Given the description of an element on the screen output the (x, y) to click on. 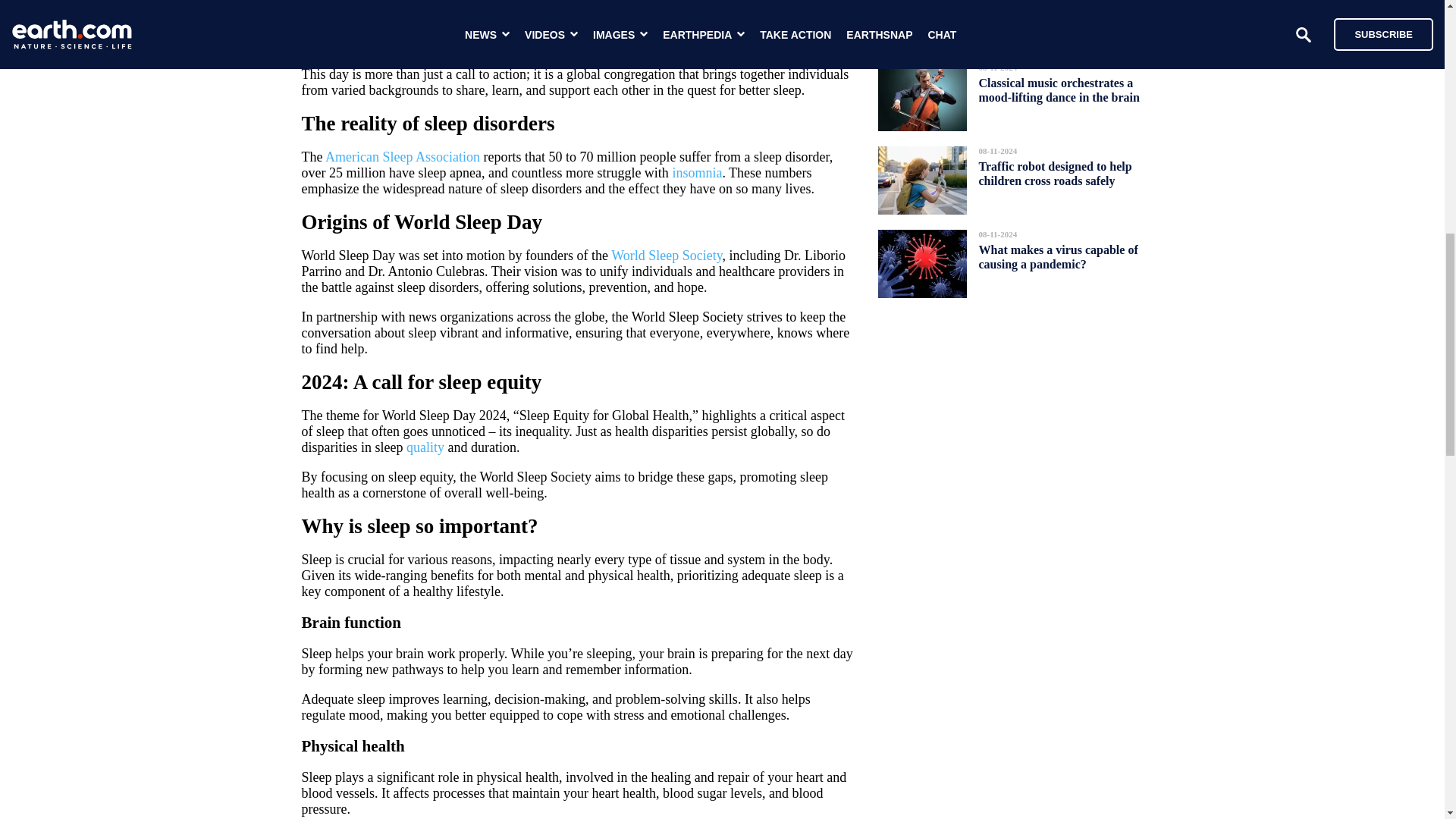
disorders (519, 3)
World Sleep Society (666, 255)
American Sleep Association (402, 156)
insomnia (696, 172)
quality (425, 447)
